Given the description of an element on the screen output the (x, y) to click on. 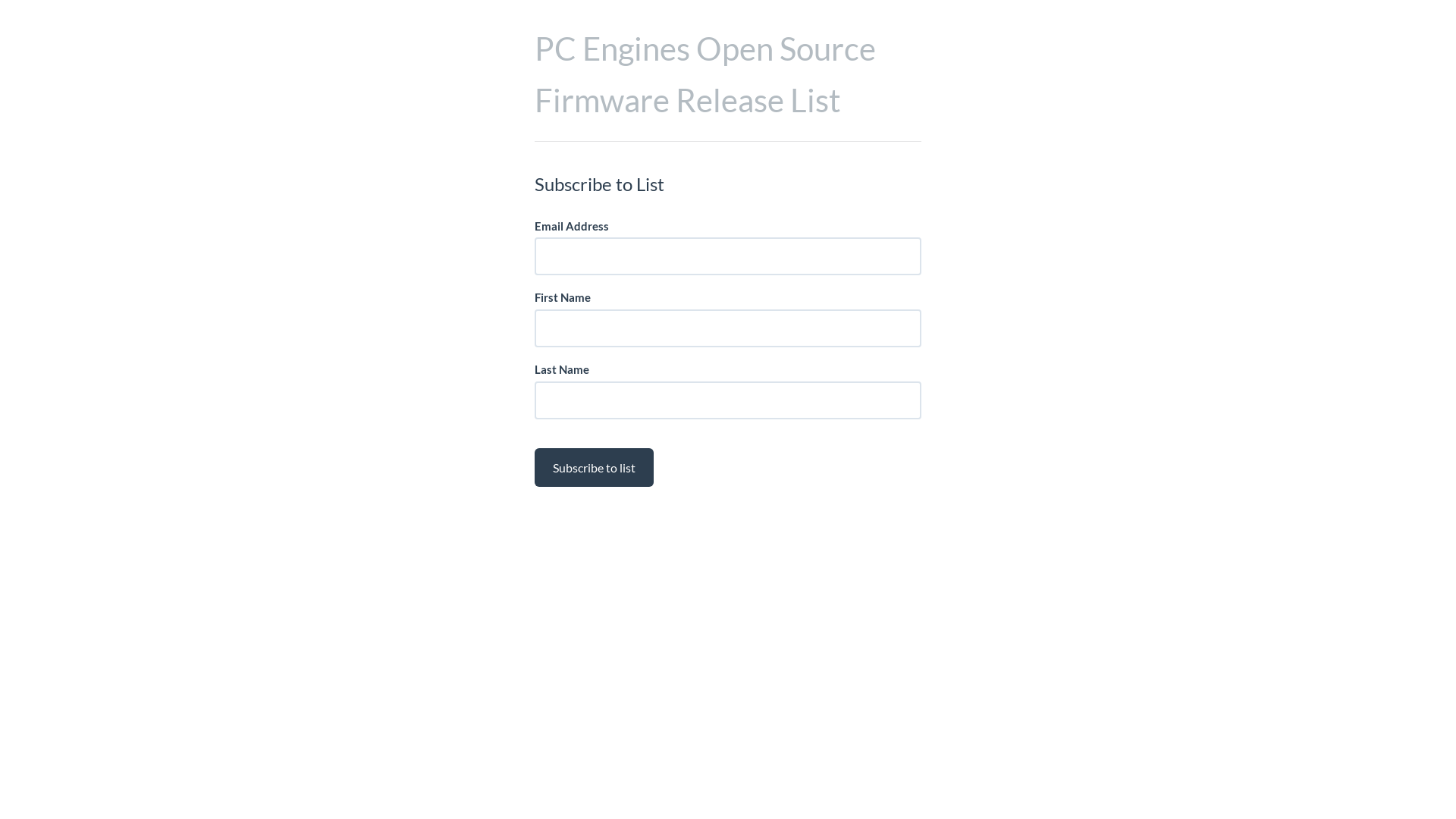
Subscribe to list Element type: text (593, 467)
